Given the description of an element on the screen output the (x, y) to click on. 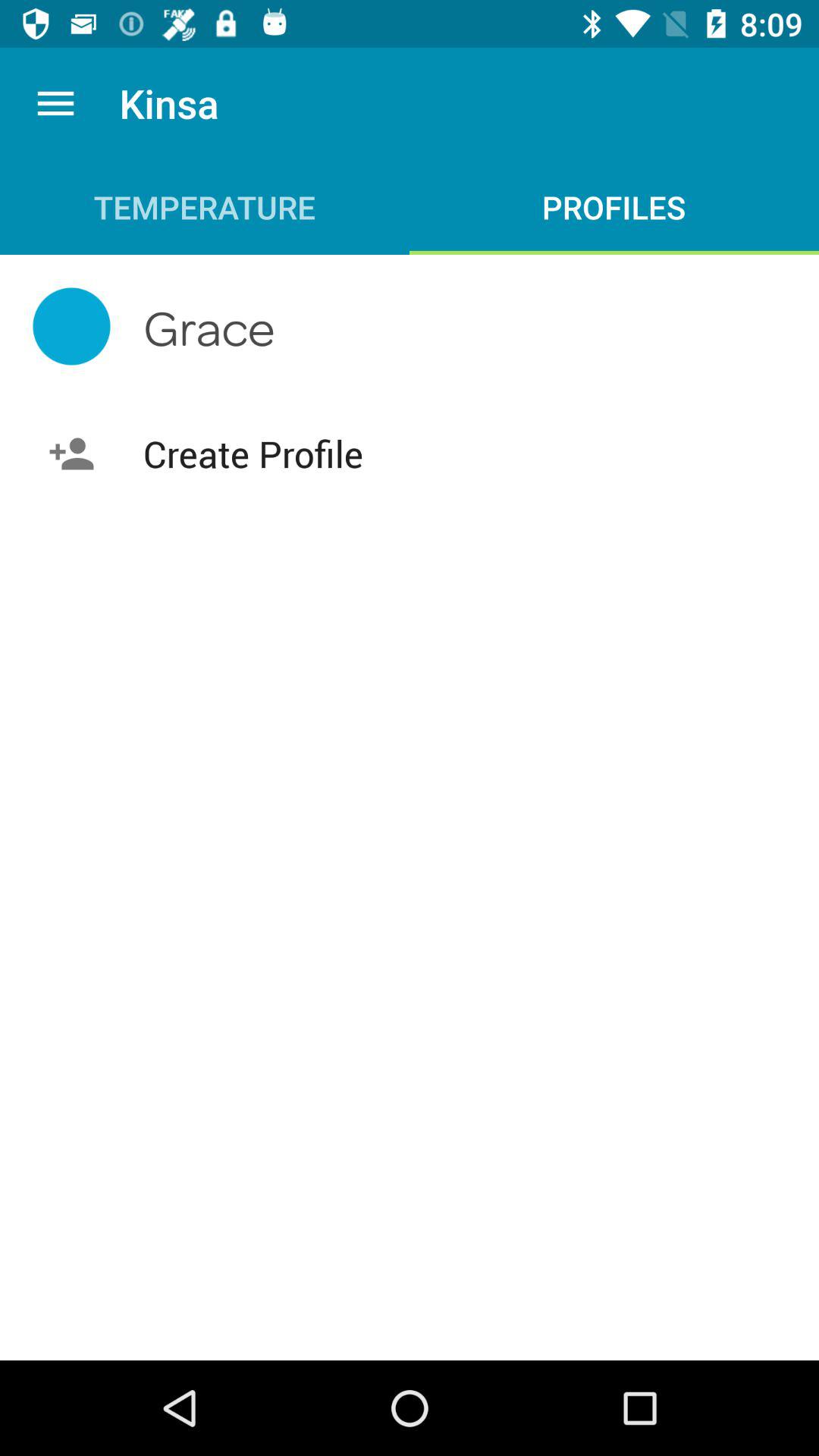
tap the app to the left of the kinsa app (55, 103)
